Given the description of an element on the screen output the (x, y) to click on. 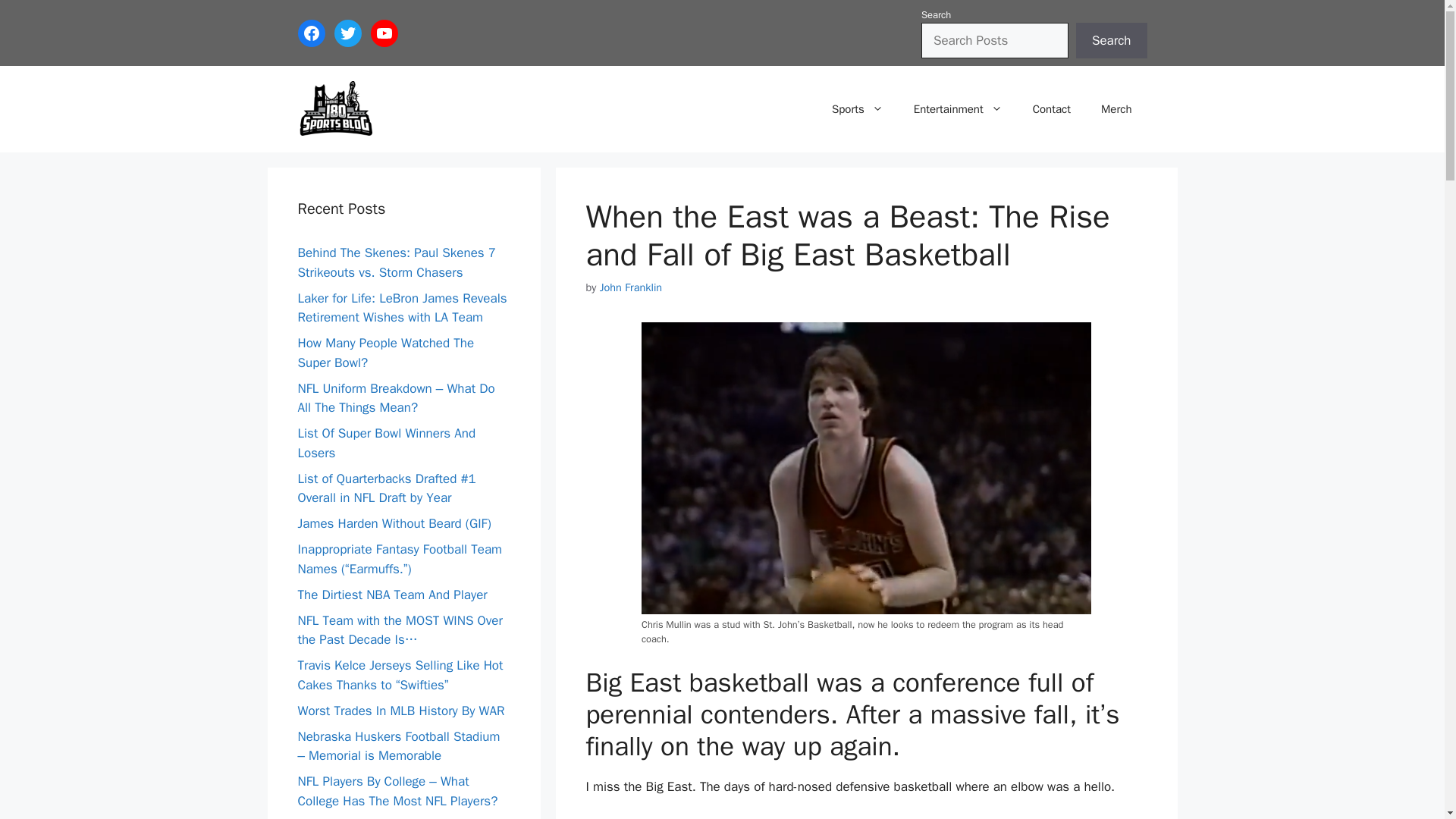
Search (1111, 40)
Twitter (347, 32)
YouTube (383, 32)
Sports (857, 108)
John Franklin (630, 287)
Entertainment (957, 108)
Contact (1051, 108)
Merch (1116, 108)
Facebook (310, 32)
View all posts by John Franklin (630, 287)
